Given the description of an element on the screen output the (x, y) to click on. 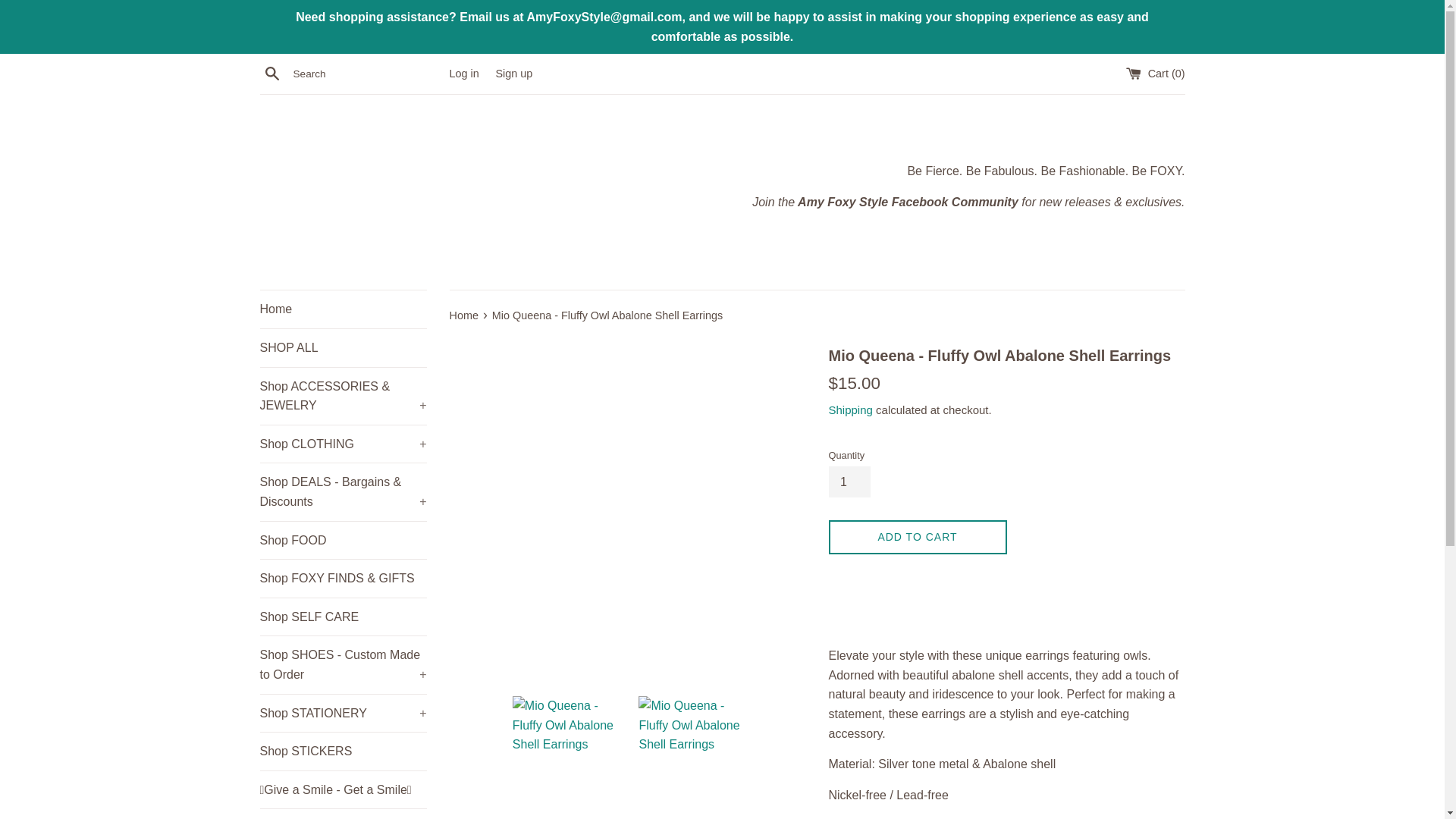
Back to the frontpage (464, 315)
Shop FOOD (342, 540)
Log in (463, 73)
Search (271, 73)
Home (342, 309)
Amy Foxy Style Facebook Community (905, 201)
Amy Foxy Style Facebook Community (905, 201)
SHOP ALL (342, 347)
Sign up (513, 73)
1 (848, 481)
